Given the description of an element on the screen output the (x, y) to click on. 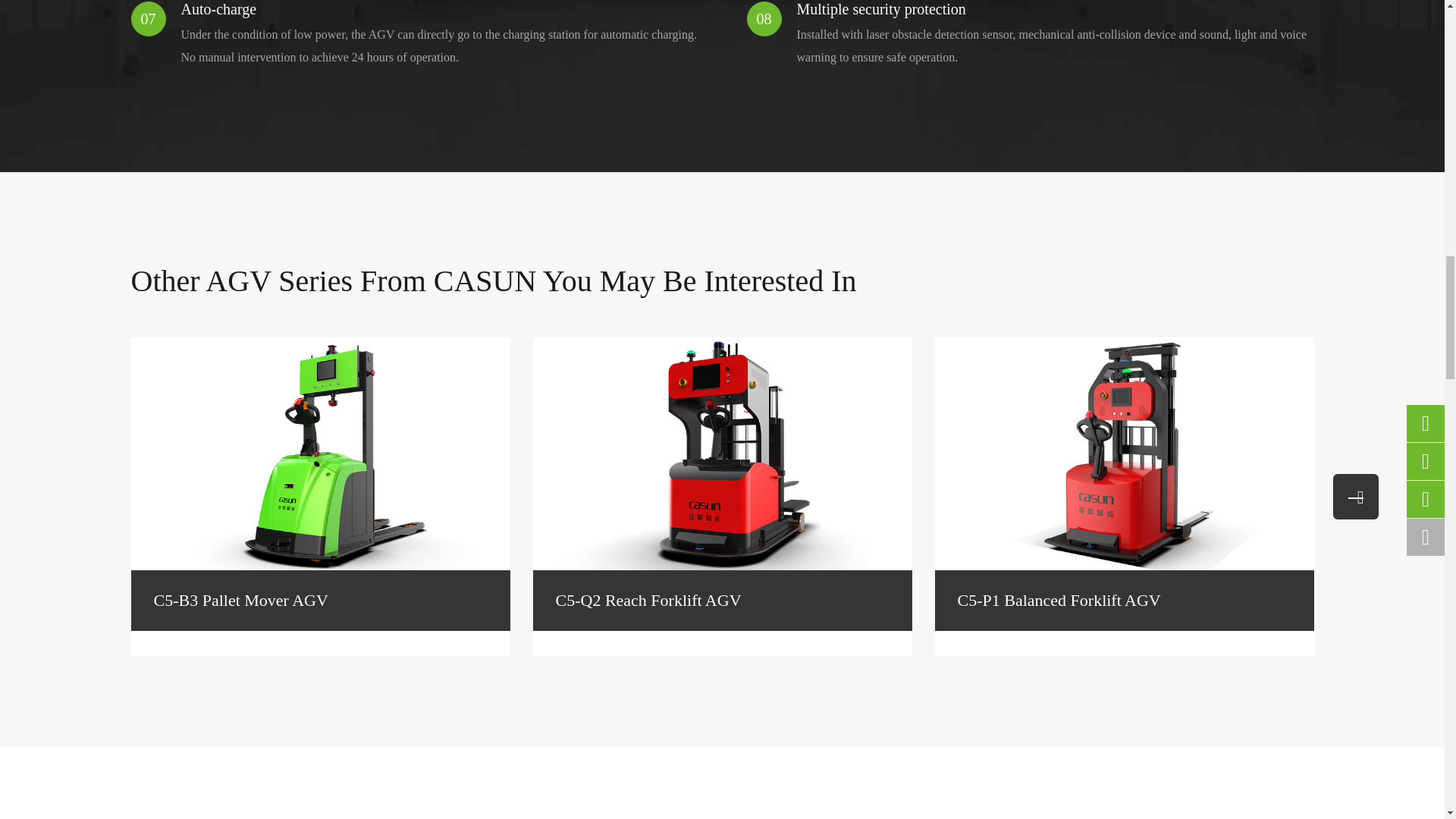
C5-Q2 Reach Forklift AGV (721, 453)
C5-P1 Balanced Forklift AGV (1123, 453)
C5-B3  Pallet Mover AGV (320, 453)
